Given the description of an element on the screen output the (x, y) to click on. 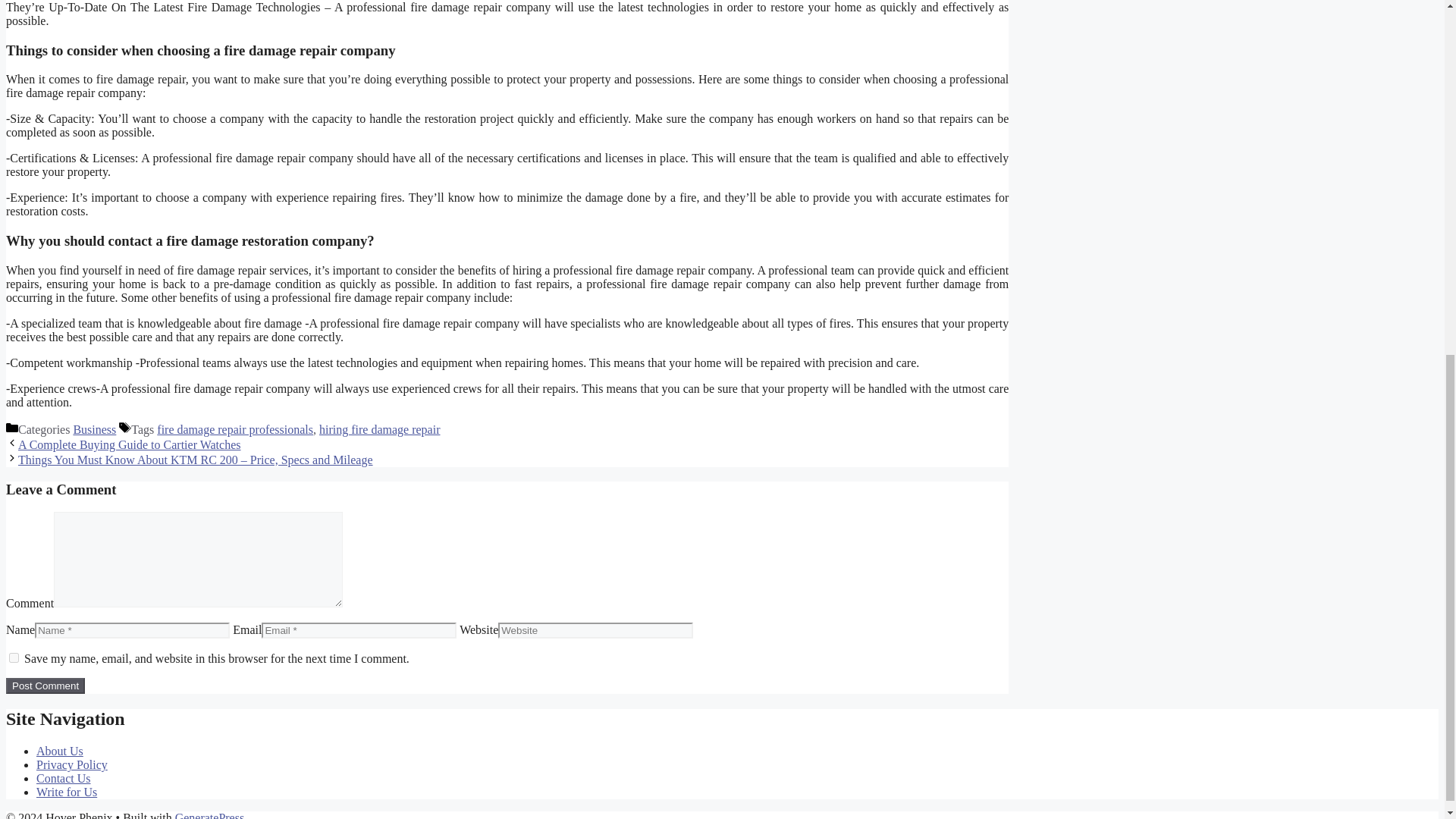
Contact Us (63, 778)
A Complete Buying Guide to Cartier Watches (128, 444)
Post Comment (44, 685)
Write for Us (66, 791)
Post Comment (44, 685)
Business (94, 429)
hiring fire damage repair (378, 429)
fire damage repair professionals (235, 429)
yes (13, 657)
About Us (59, 750)
